Given the description of an element on the screen output the (x, y) to click on. 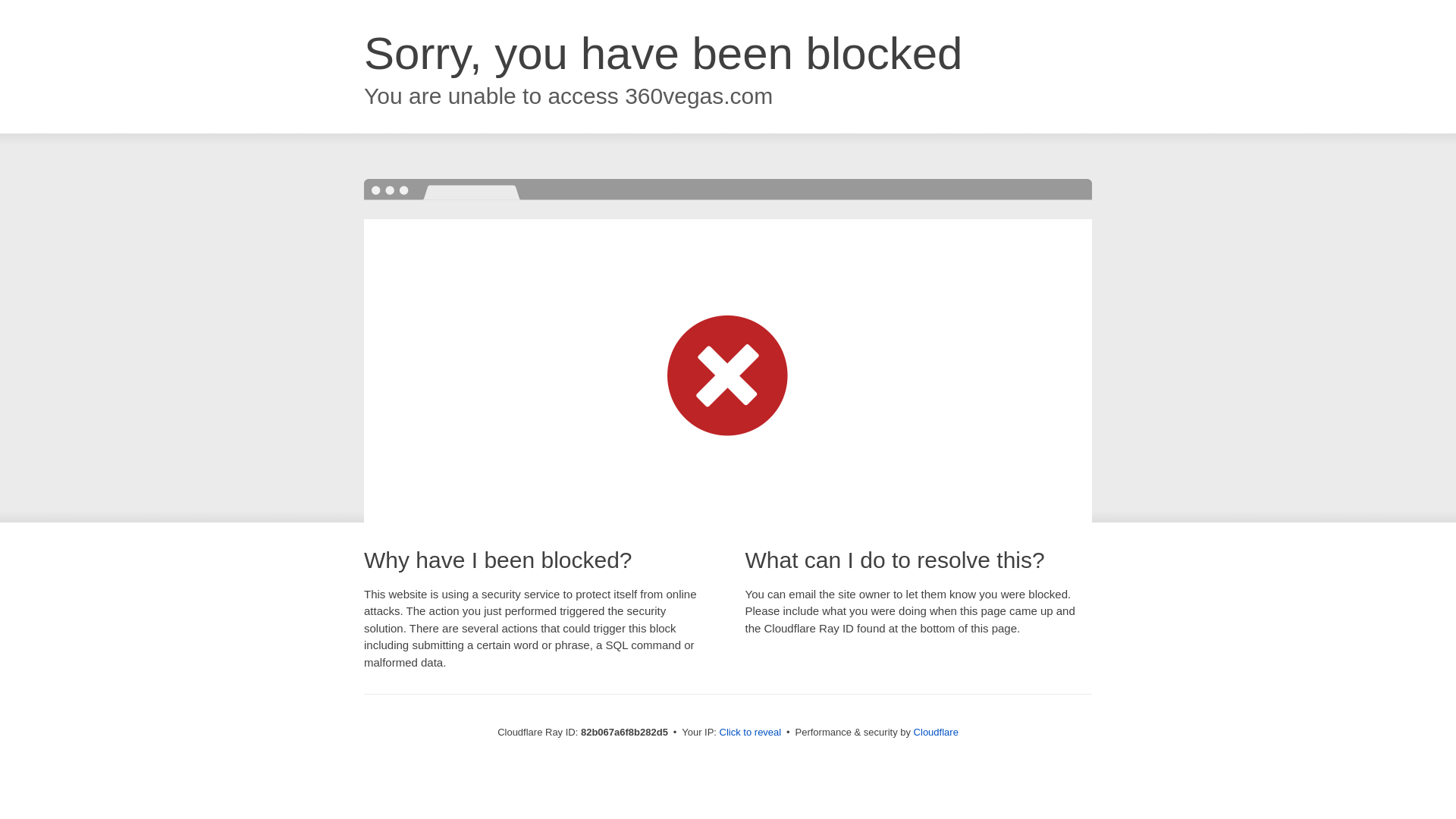
Cloudflare Element type: text (935, 731)
Click to reveal Element type: text (750, 732)
